Given the description of an element on the screen output the (x, y) to click on. 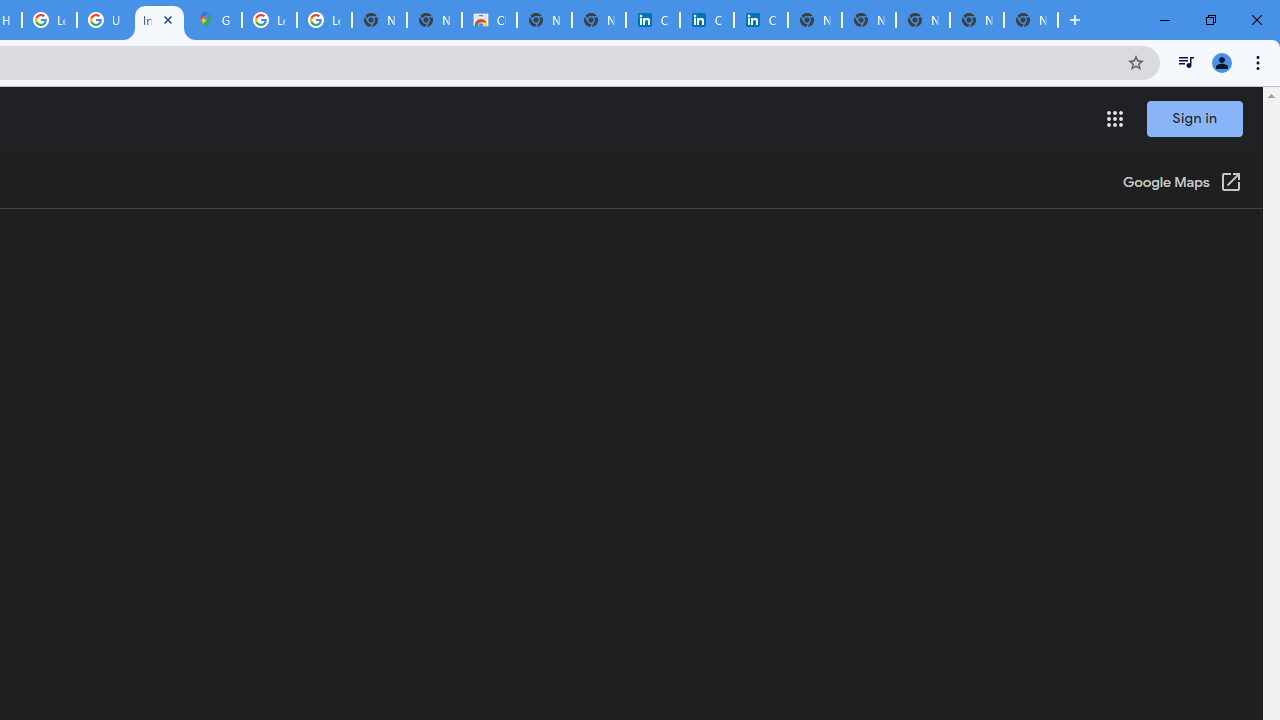
Cookie Policy | LinkedIn (652, 20)
Google Maps (213, 20)
